Given the description of an element on the screen output the (x, y) to click on. 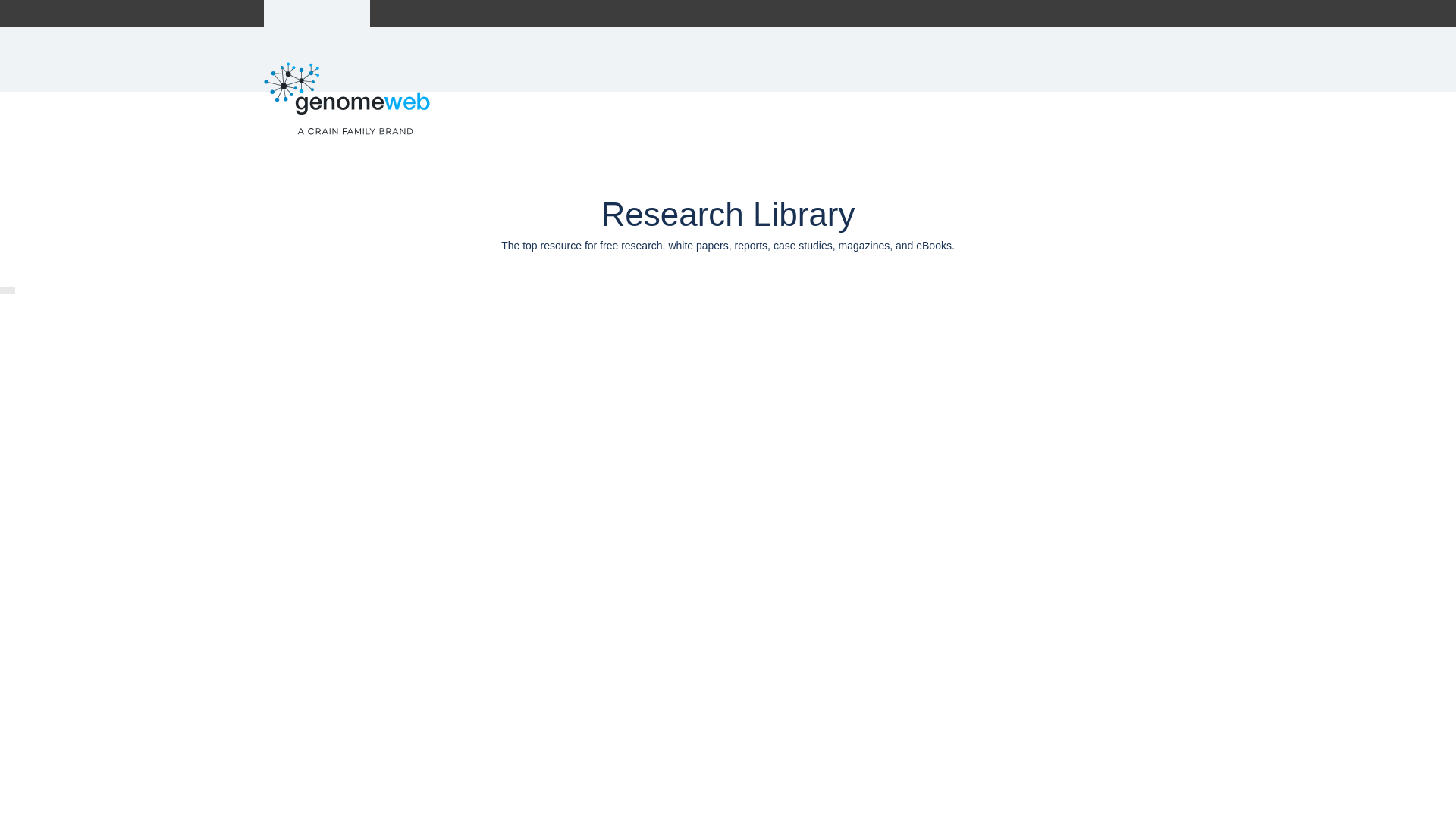
GenomeWeb (316, 13)
Precision Oncology News (505, 13)
360Dx (410, 13)
